Given the description of an element on the screen output the (x, y) to click on. 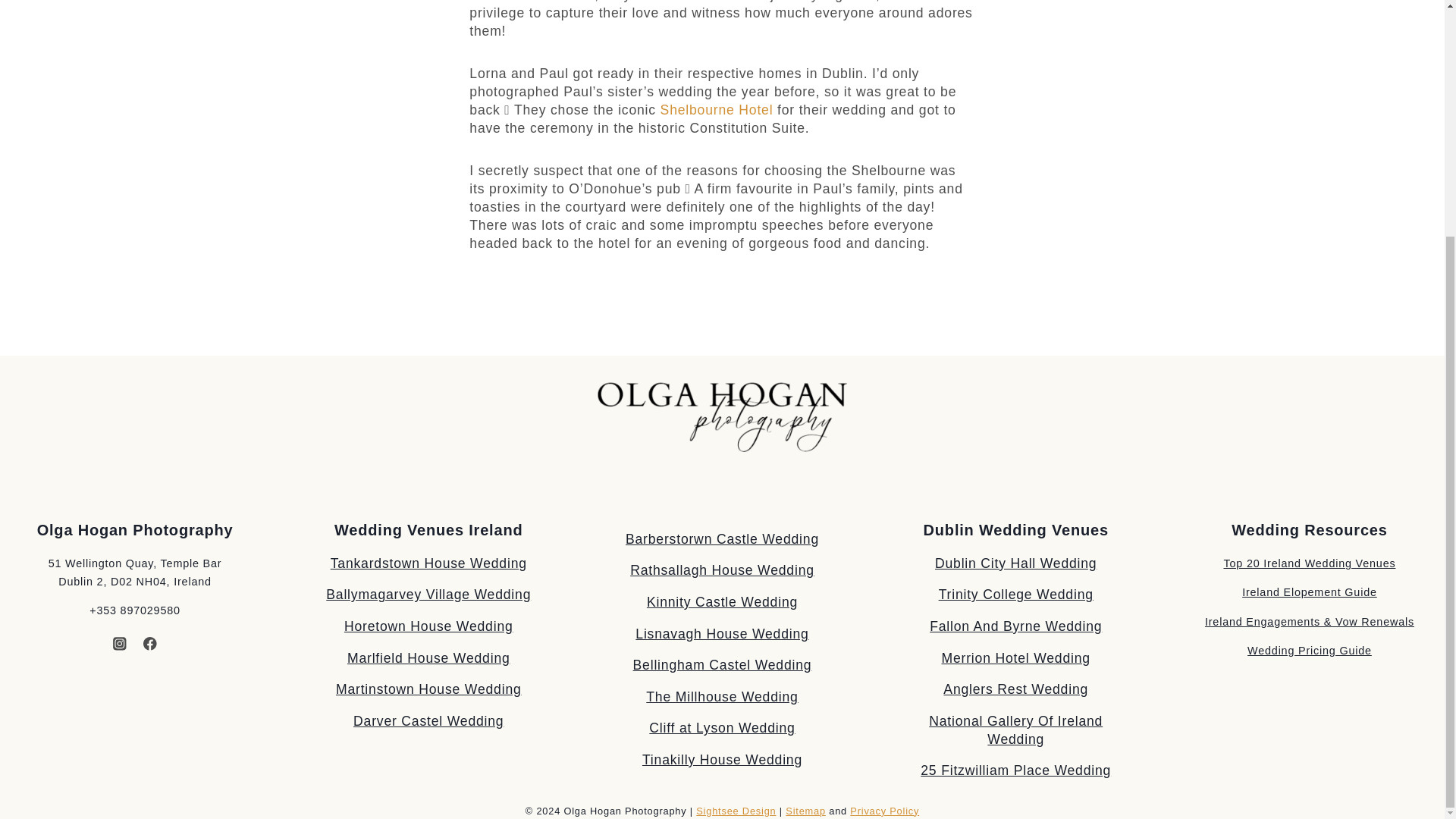
Kinnity Castle Wedding (721, 601)
homepage (721, 417)
Tankardstown House Wedding (428, 563)
Barberstorwn Castle Wedding (722, 539)
Fallon And Byrne Wedding (1016, 626)
Cliff at Lyson Wedding (721, 727)
Anglers Rest Wedding (1015, 688)
Darver Castel Wedding (428, 720)
Martinstown House Wedding (428, 688)
Bellingham Castel Wedding (722, 664)
